Given the description of an element on the screen output the (x, y) to click on. 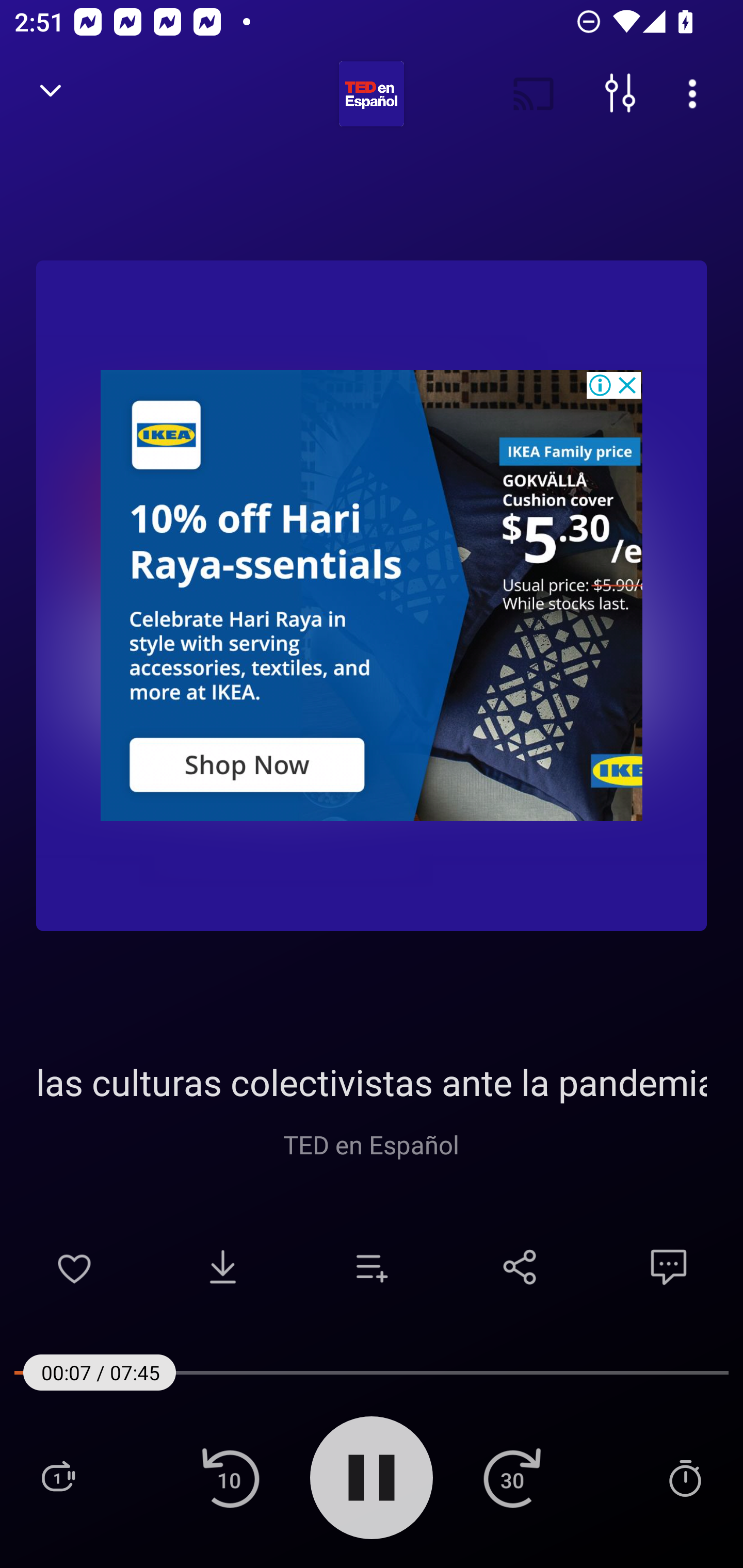
Cast. Disconnected (533, 93)
 Back (50, 94)
ramadan (371, 595)
TED en Español (371, 1144)
Comments (668, 1266)
Add to Favorites (73, 1266)
Add to playlist (371, 1266)
Share (519, 1266)
 Playlist (57, 1477)
Sleep Timer  (684, 1477)
